Given the description of an element on the screen output the (x, y) to click on. 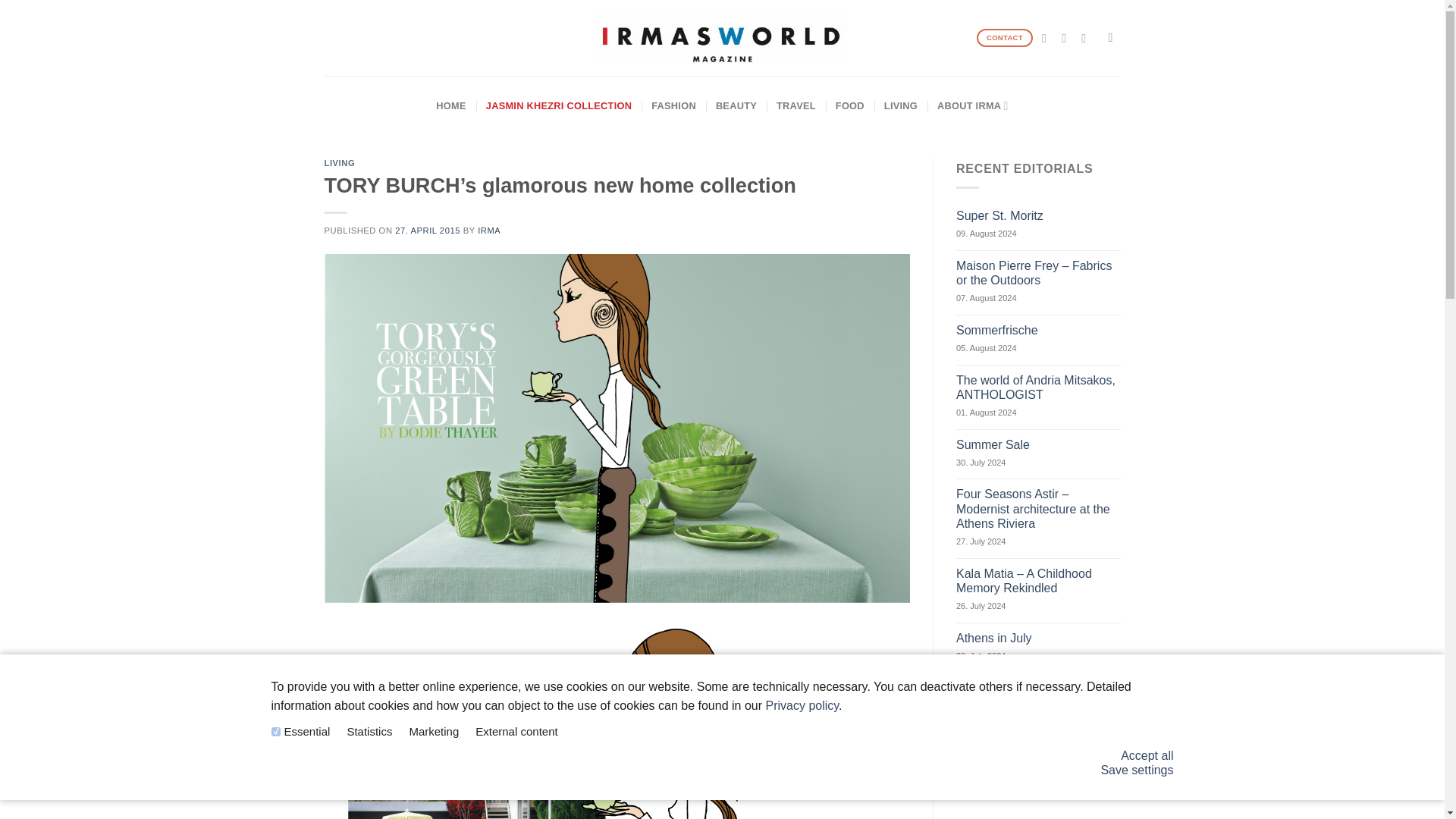
Athens in July (1038, 637)
Athens in July (1038, 637)
Summer Sale (1038, 444)
Summer Sale (1038, 444)
The world of Andria Mitsakos, ANTHOLOGIST (1038, 387)
27. APRIL 2015 (427, 230)
Super St. Moritz (1038, 215)
Follow on Facebook (1048, 38)
ABOUT IRMA (973, 106)
Super St. Moritz (1038, 215)
